Given the description of an element on the screen output the (x, y) to click on. 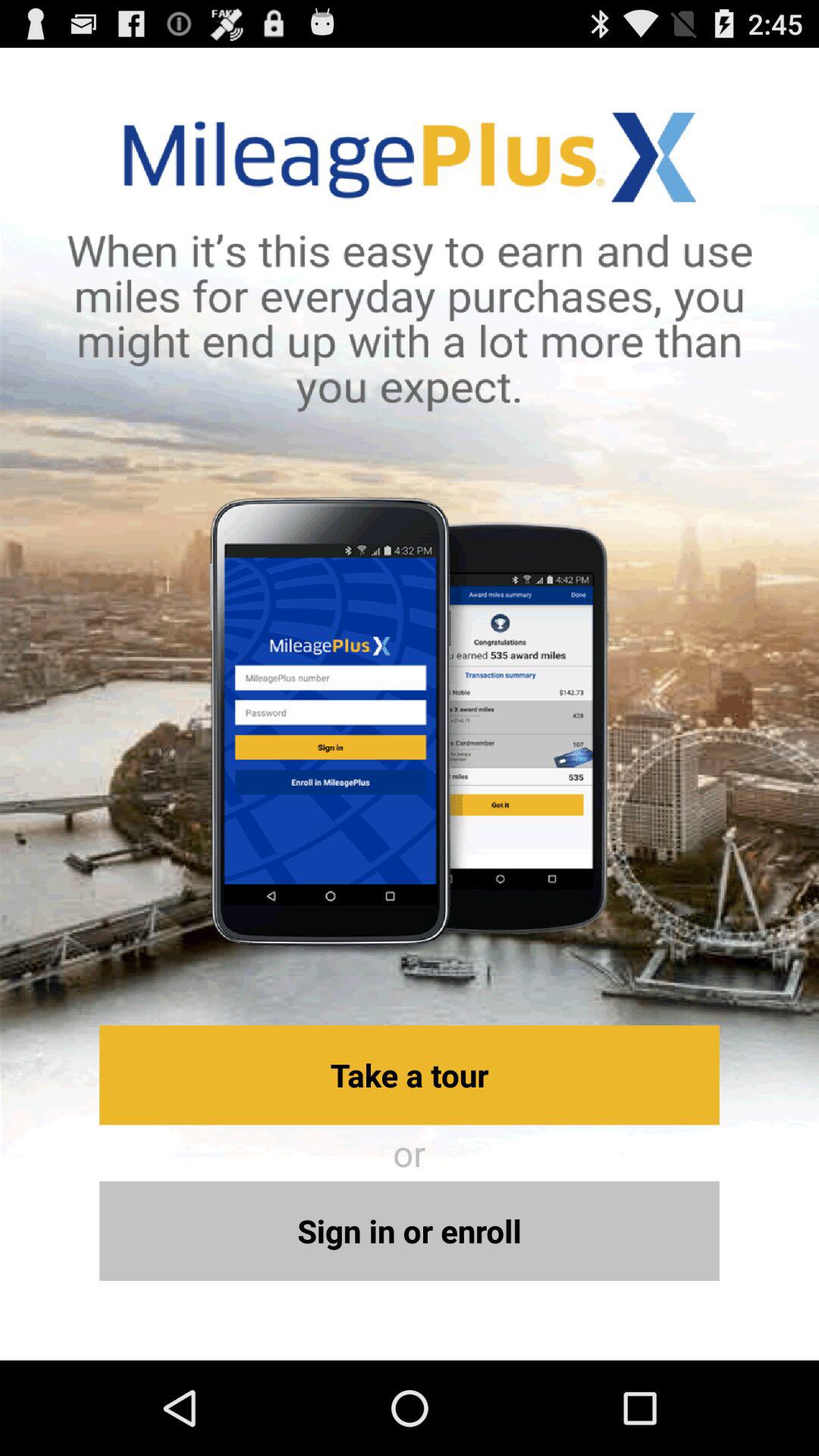
swipe until the sign in or icon (409, 1230)
